Given the description of an element on the screen output the (x, y) to click on. 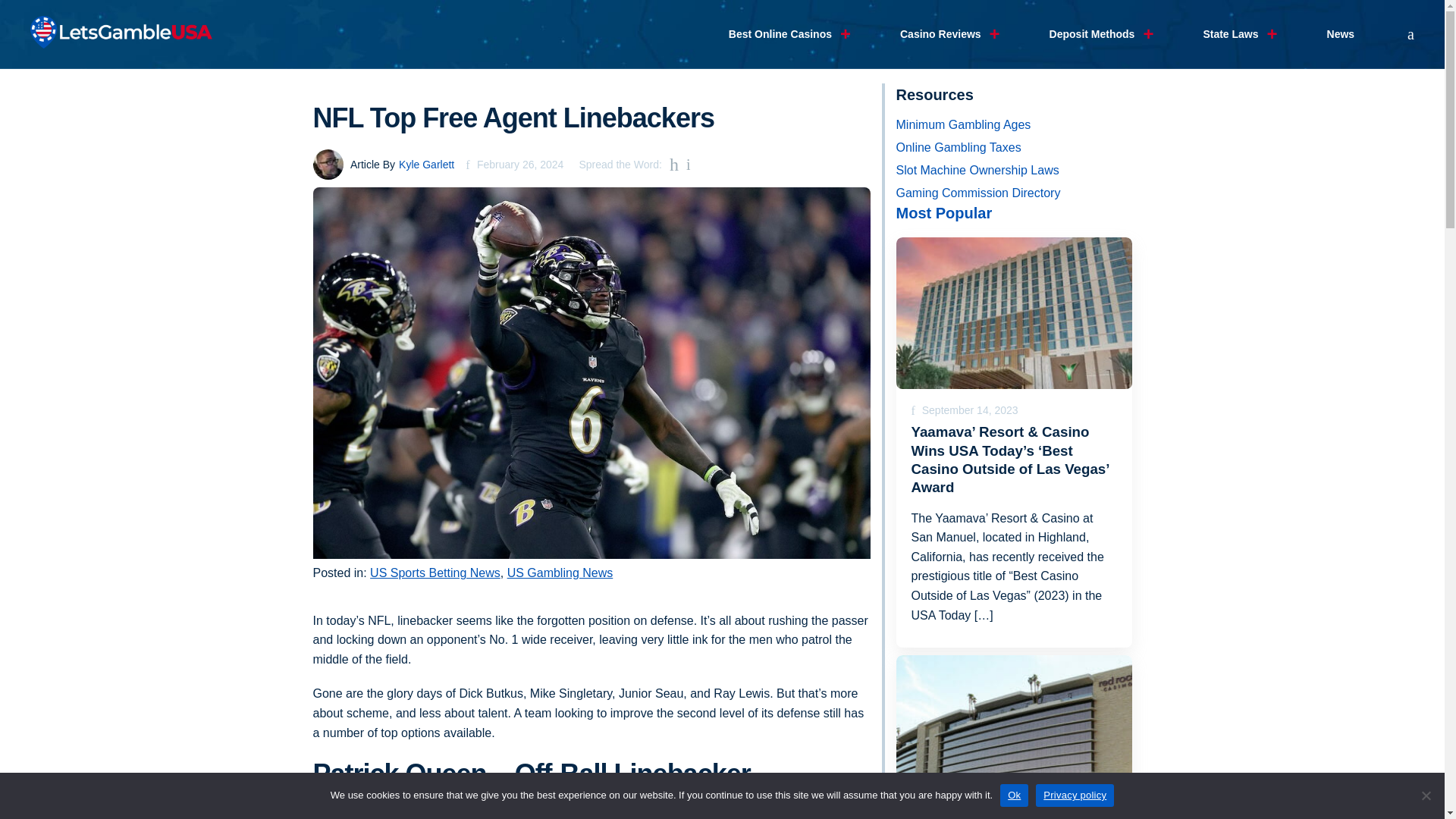
News (1340, 34)
Article ByKyle Garlett (383, 164)
US Sports Betting News (434, 572)
Deposit Methods (1091, 34)
No (1425, 795)
State Laws (1230, 34)
Best Online Casinos (780, 34)
Minimum Gambling Ages (1014, 124)
Casino Reviews (940, 34)
US Gambling News (559, 572)
